Given the description of an element on the screen output the (x, y) to click on. 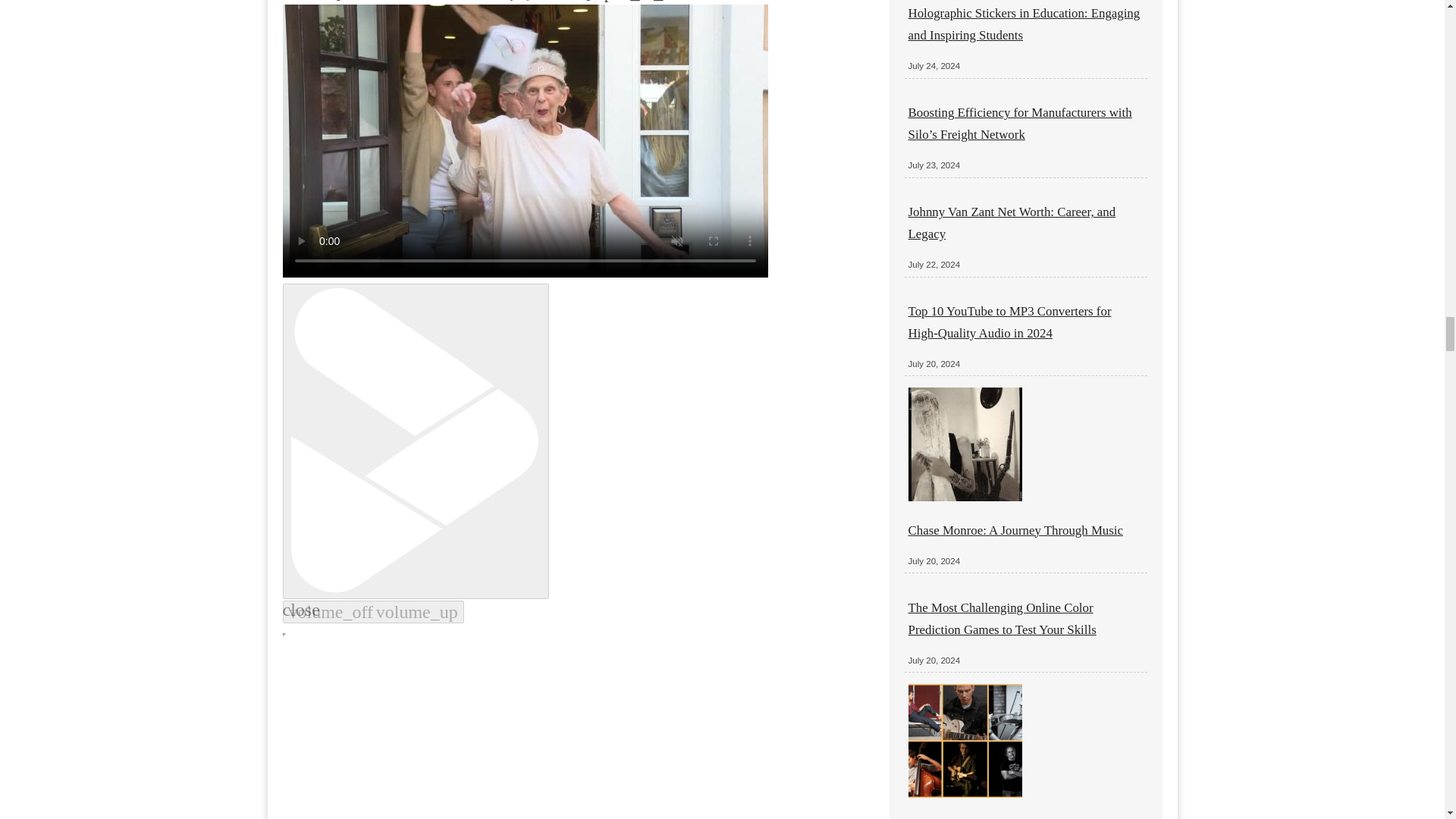
Johnny Van Zant Net Worth: Career, and Legacy (1012, 222)
